Given the description of an element on the screen output the (x, y) to click on. 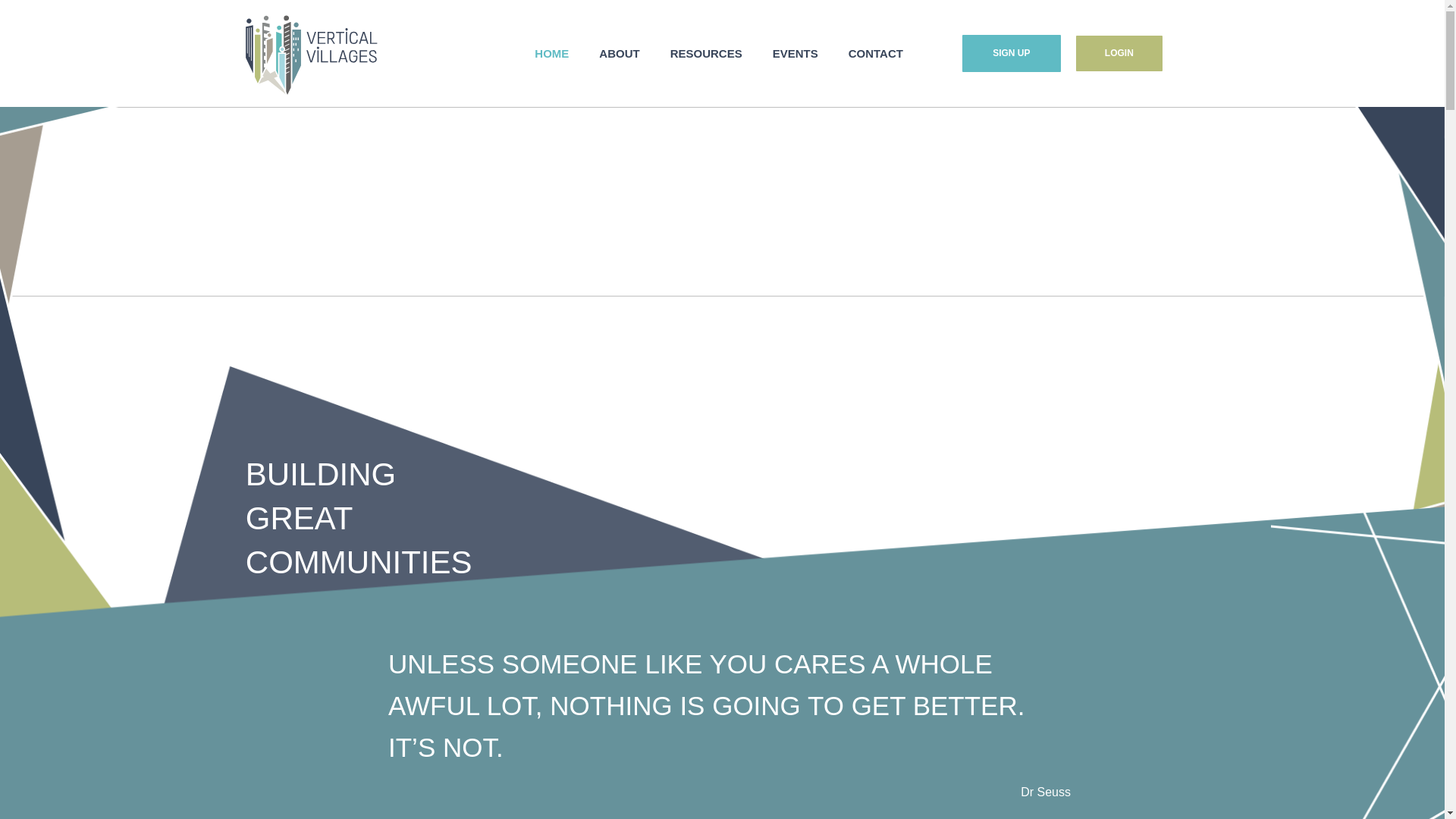
HOME Element type: text (551, 53)
RESOURCES Element type: text (706, 53)
CONTACT Element type: text (875, 53)
SIGN UP Element type: text (1011, 53)
ABOUT Element type: text (618, 53)
EVENTS Element type: text (795, 53)
LOGIN Element type: text (1119, 52)
